Given the description of an element on the screen output the (x, y) to click on. 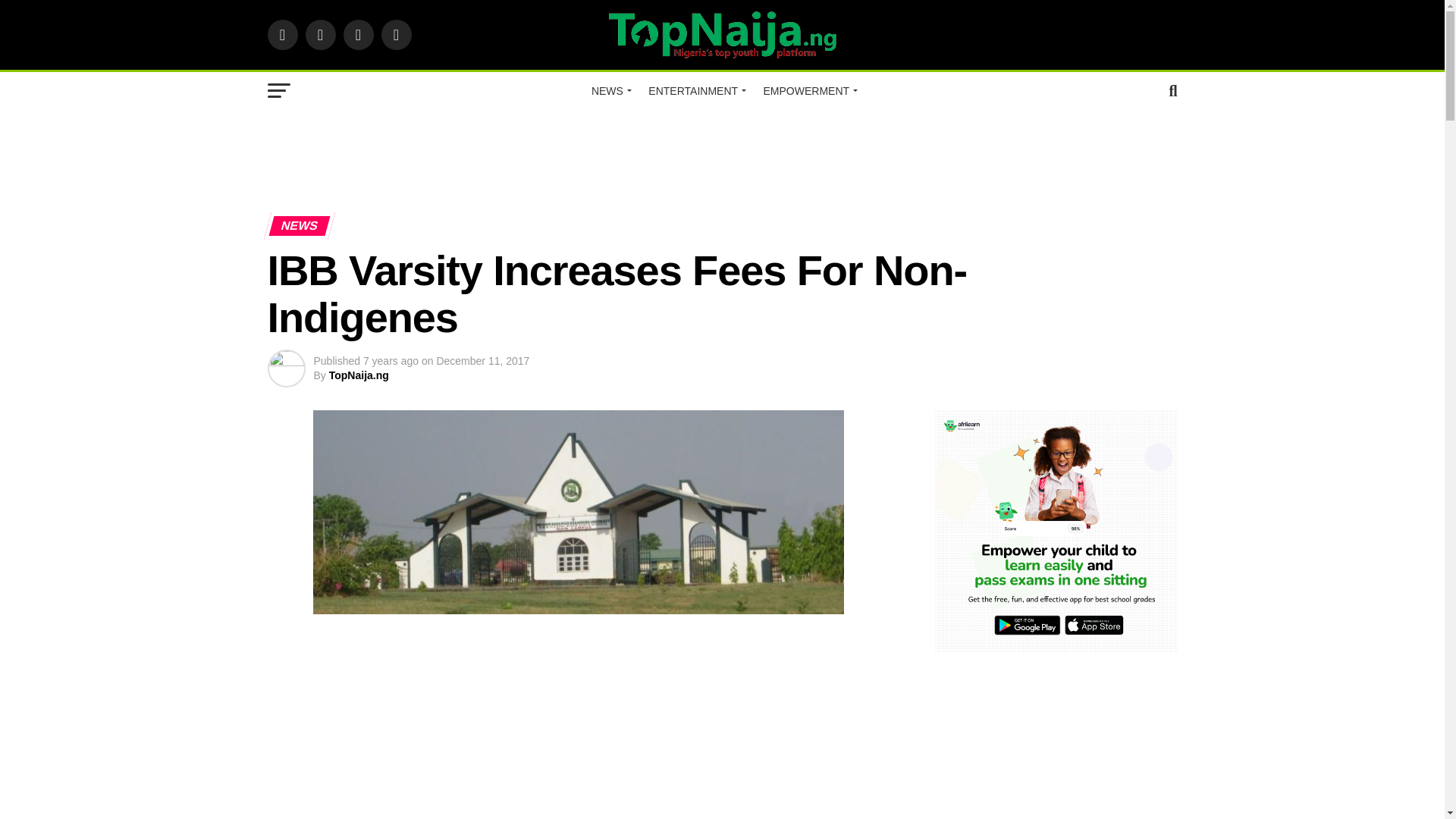
TopNaija.ng (358, 375)
Posts by TopNaija.ng (358, 375)
Advertisement (608, 730)
EMPOWERMENT (808, 90)
ENTERTAINMENT (695, 90)
Advertisement (721, 156)
NEWS (609, 90)
